Given the description of an element on the screen output the (x, y) to click on. 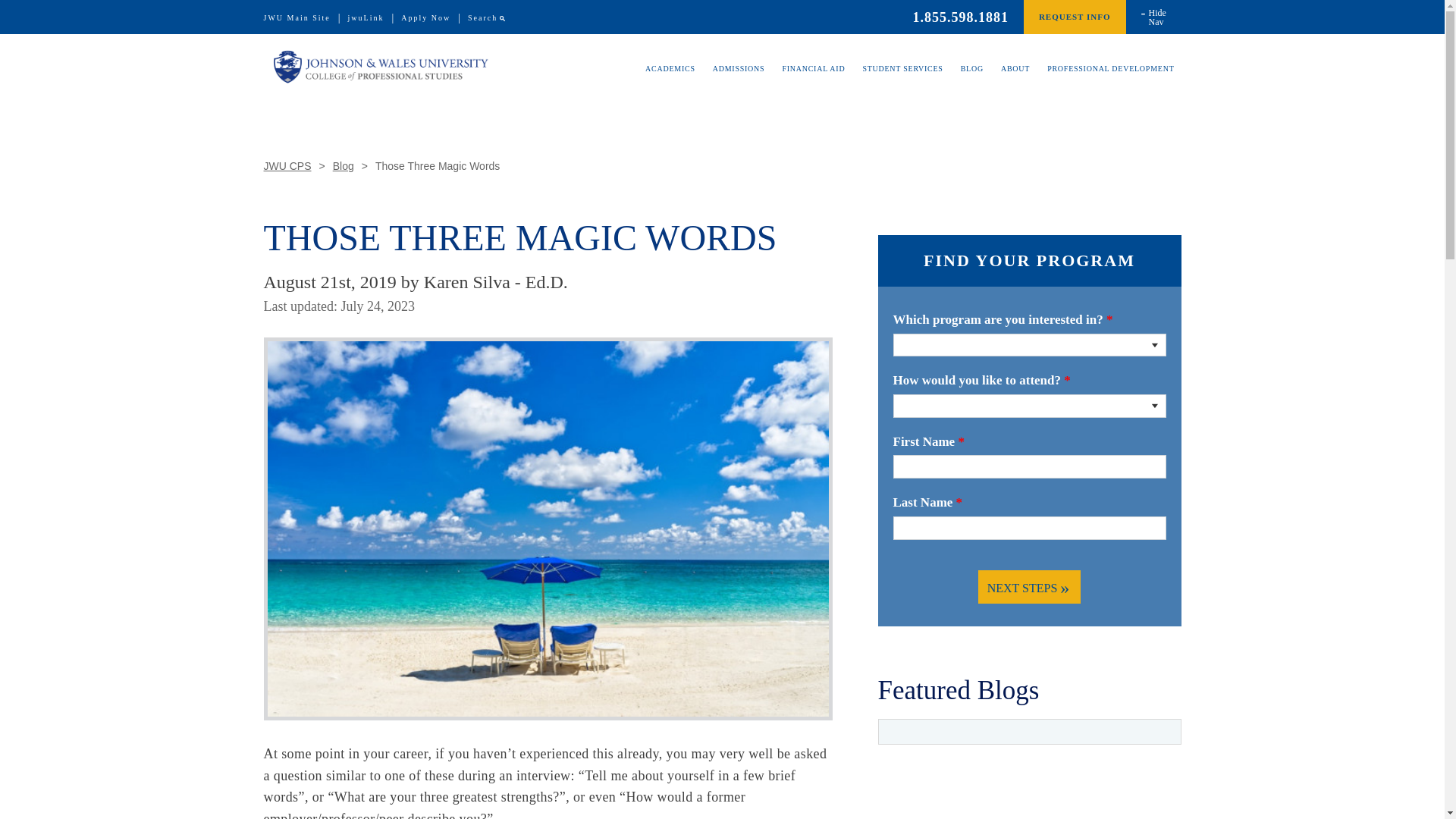
JWU Main Site (296, 17)
1.855.598.1881 (960, 17)
jwuLink (365, 17)
Call us today. (960, 17)
Program (1029, 344)
First Name (1029, 467)
Search (482, 17)
Last Name (1029, 527)
Location (1029, 406)
ADMISSIONS (738, 80)
